Given the description of an element on the screen output the (x, y) to click on. 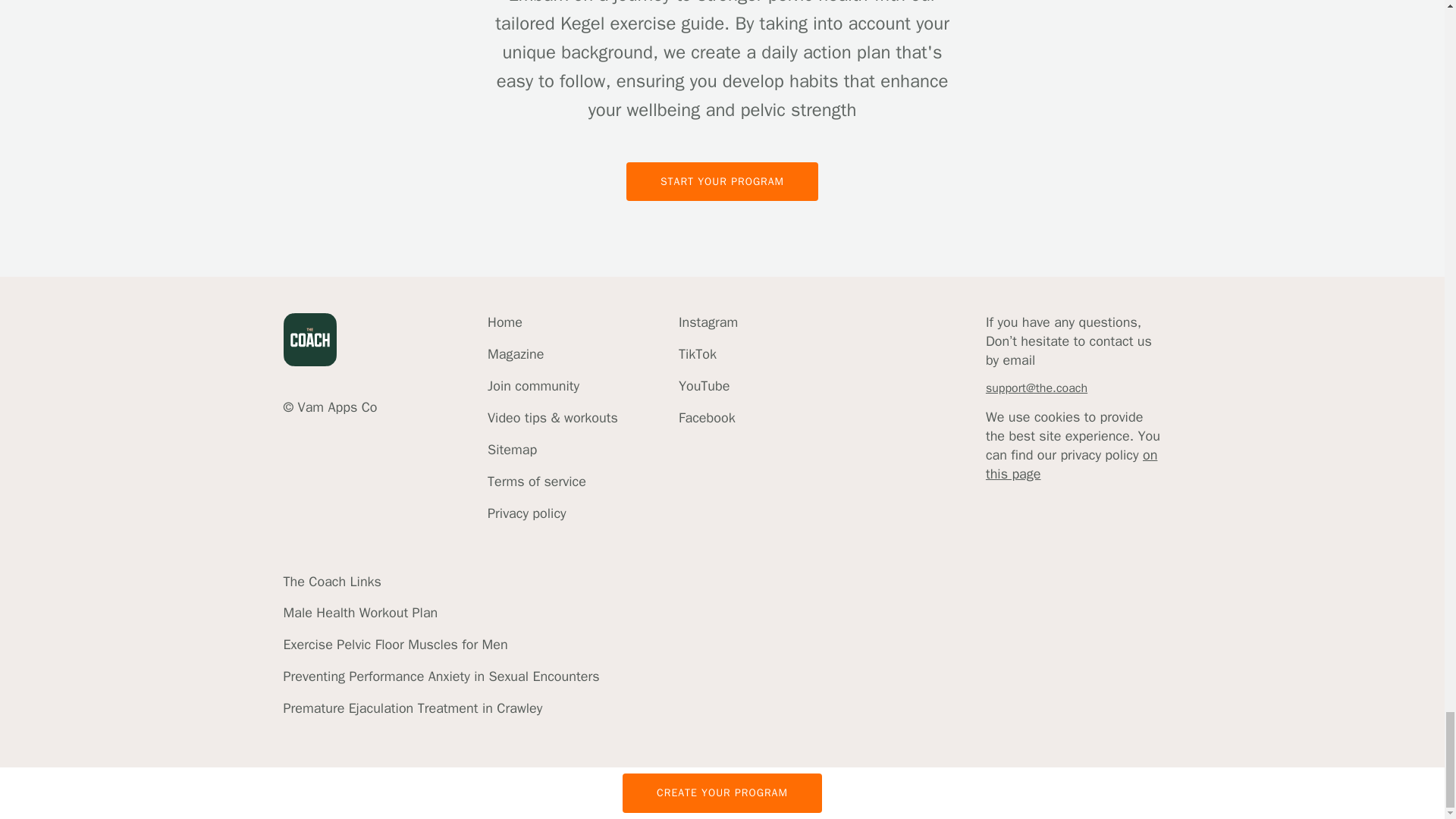
Join community (552, 385)
Home (552, 322)
START YOUR PROGRAM (722, 209)
Magazine (552, 353)
